Given the description of an element on the screen output the (x, y) to click on. 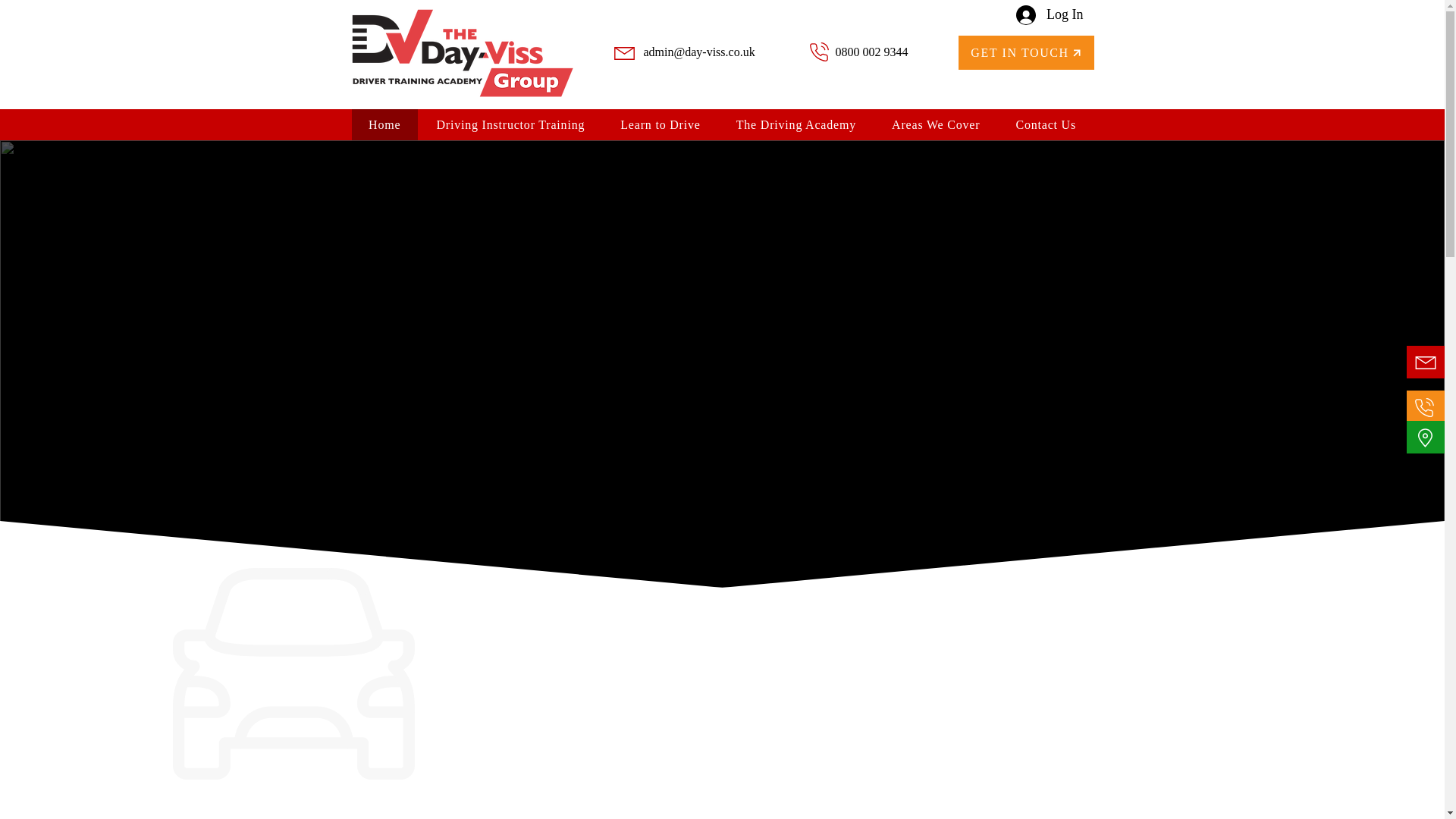
Home (384, 124)
Driving Instructor Training (510, 124)
The Driving Academy (795, 124)
Learn to Drive (660, 124)
Contact Us (1045, 124)
GET IN TOUCH (1026, 52)
Log In (1050, 14)
